Given the description of an element on the screen output the (x, y) to click on. 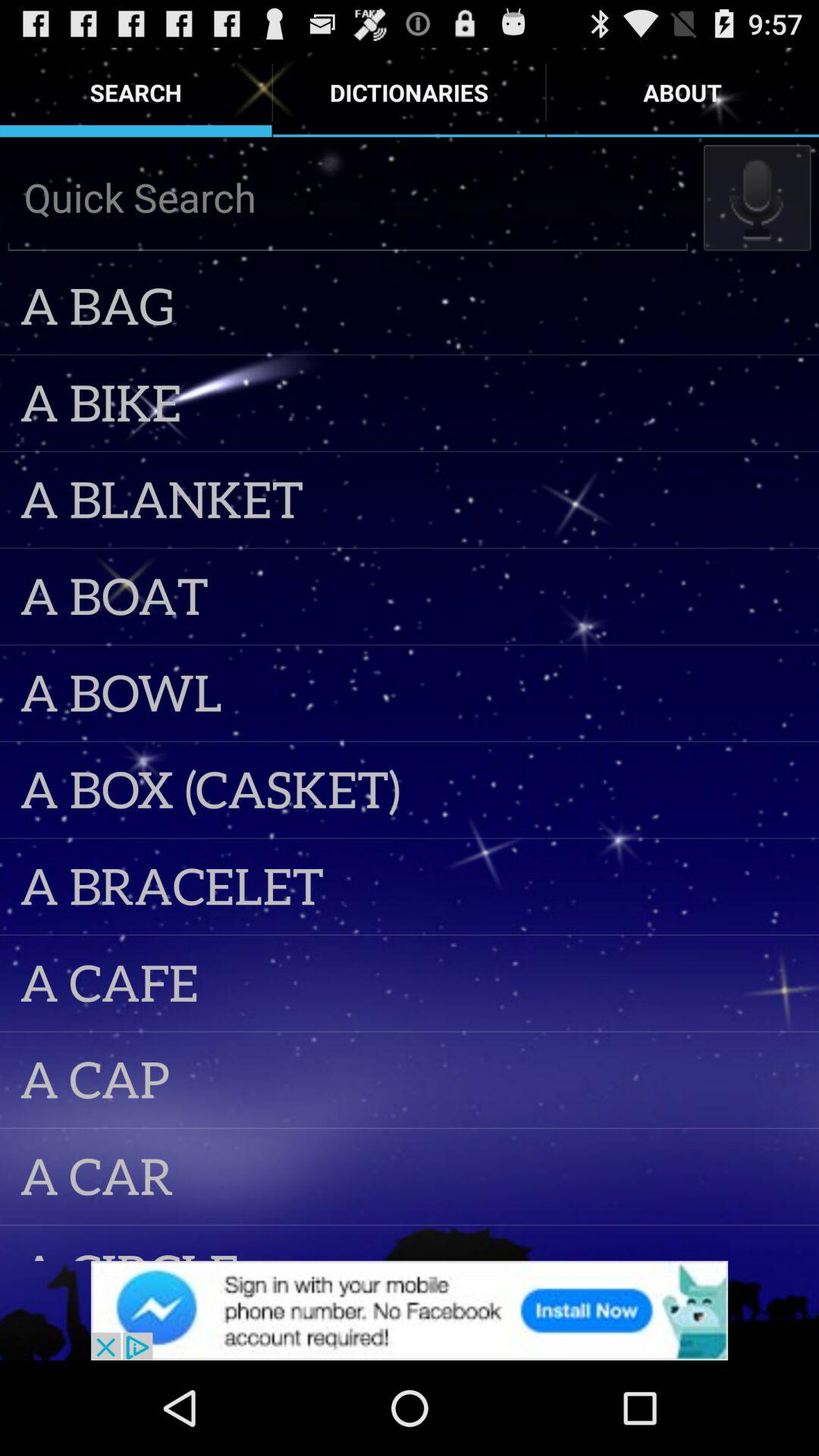
quick search (347, 197)
